Given the description of an element on the screen output the (x, y) to click on. 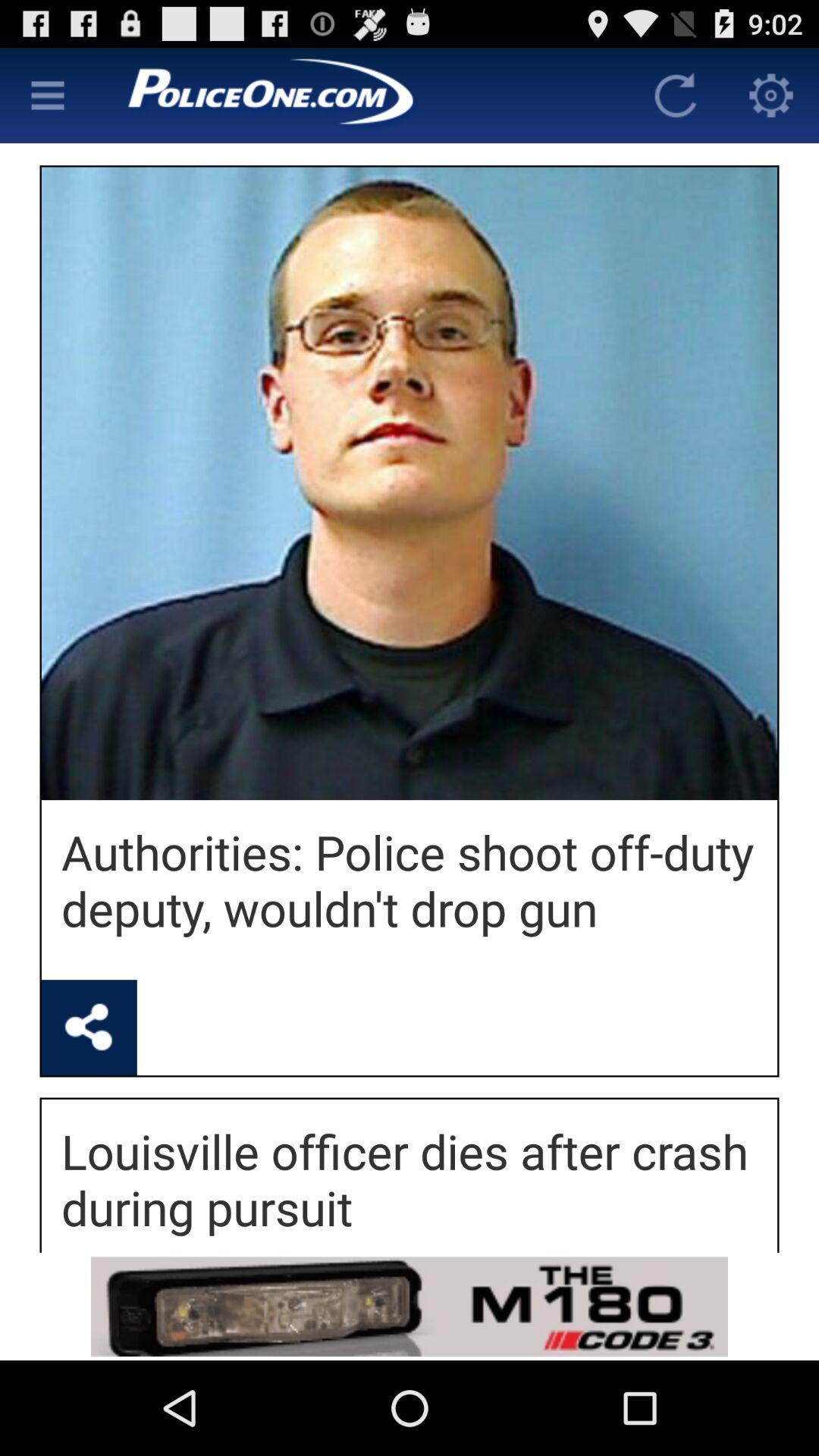
share the article (89, 1027)
